Given the description of an element on the screen output the (x, y) to click on. 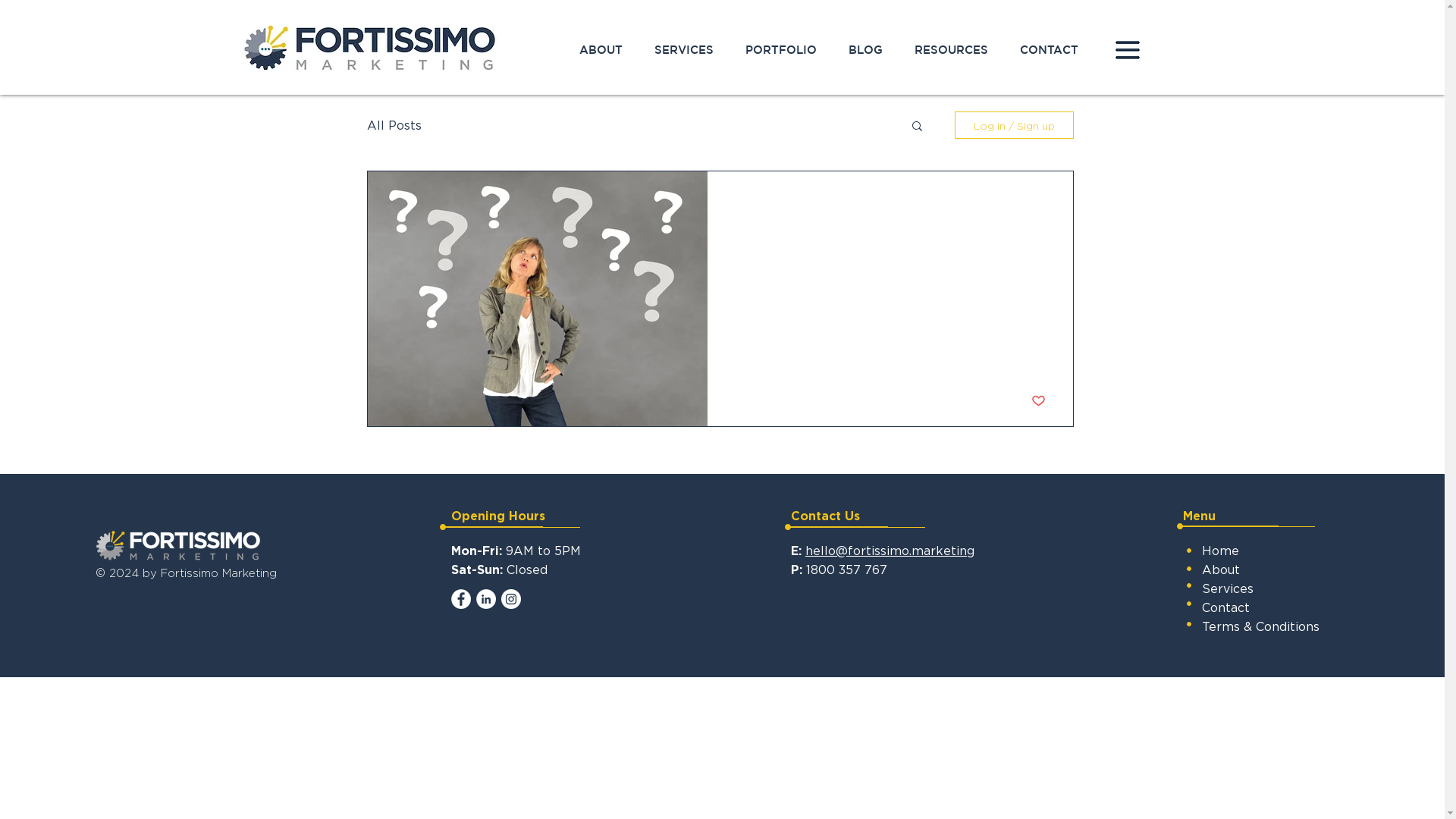
About Element type: text (1220, 569)
3 Steps to Overcoming Marketing Overwhelm Element type: text (889, 258)
CONTACT Element type: text (1049, 50)
SERVICES Element type: text (683, 50)
Log in / Sign up Element type: text (1013, 124)
BLOG Element type: text (865, 50)
Terms & Conditions Element type: text (1260, 626)
RESOURCES Element type: text (950, 50)
PORTFOLIO Element type: text (780, 50)
2 likes. Post not marked as liked
2 Element type: text (1033, 400)
hello@fortissimo.marketing Element type: text (889, 550)
Services Element type: text (1227, 588)
0 comments Element type: text (816, 400)
Contact Element type: text (1225, 607)
All Posts Element type: text (394, 124)
Home Element type: text (1220, 550)
ABOUT Element type: text (601, 50)
